Given the description of an element on the screen output the (x, y) to click on. 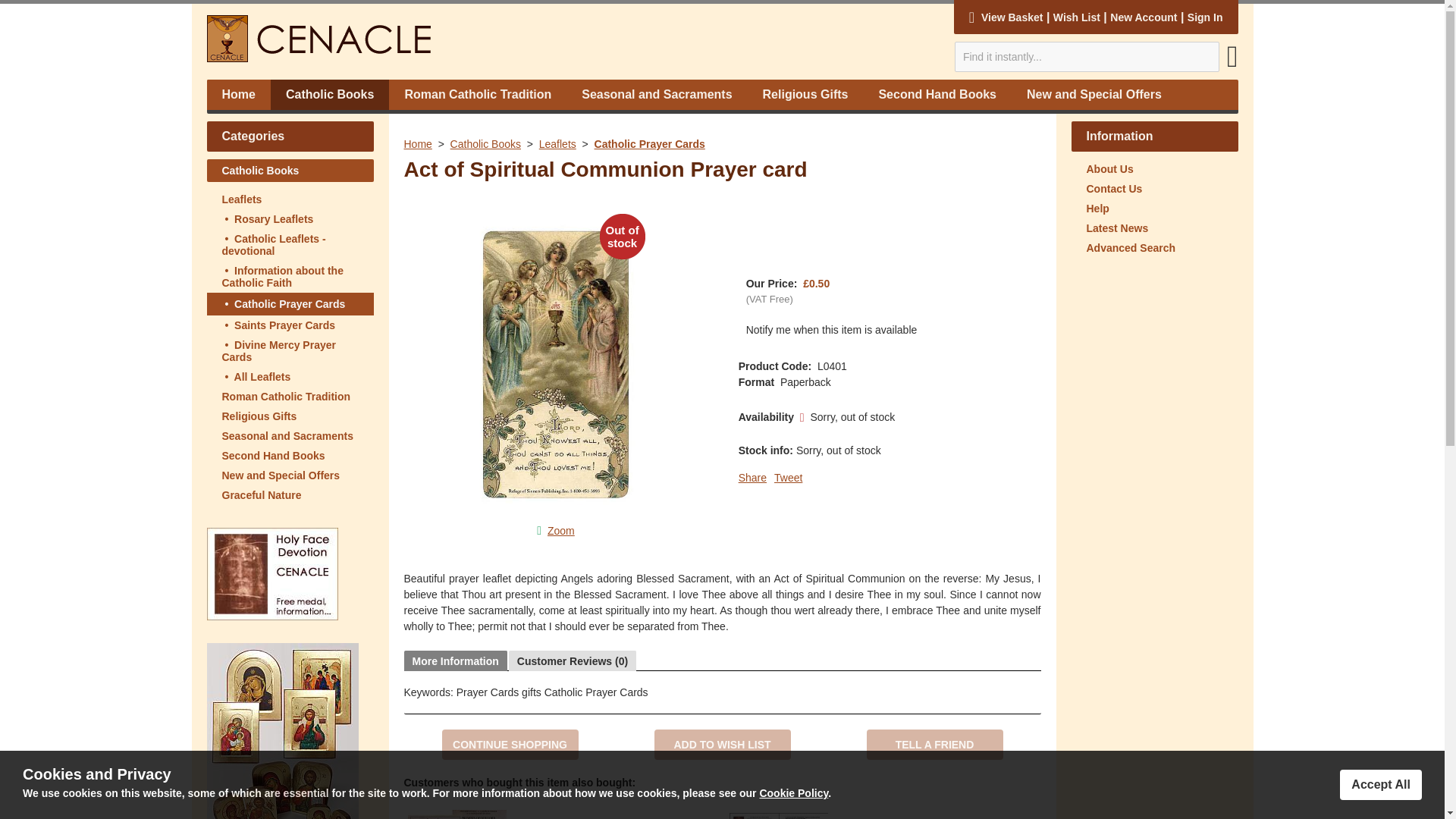
Seasonal and Sacraments (289, 435)
TELL A FRIEND (934, 744)
Tweet (788, 477)
Leaflets (557, 143)
Leaflets (289, 199)
New and Special Offers (289, 475)
Zoom (561, 530)
ADD TO WISH LIST (721, 744)
CONTINUE SHOPPING (509, 744)
Catholic Books (485, 143)
Act of Spiritual Communion Prayer card (561, 530)
Religious Gifts (289, 415)
Go (1233, 62)
Catholic Prayer Cards (649, 143)
Roman Catholic Tradition (289, 396)
